Given the description of an element on the screen output the (x, y) to click on. 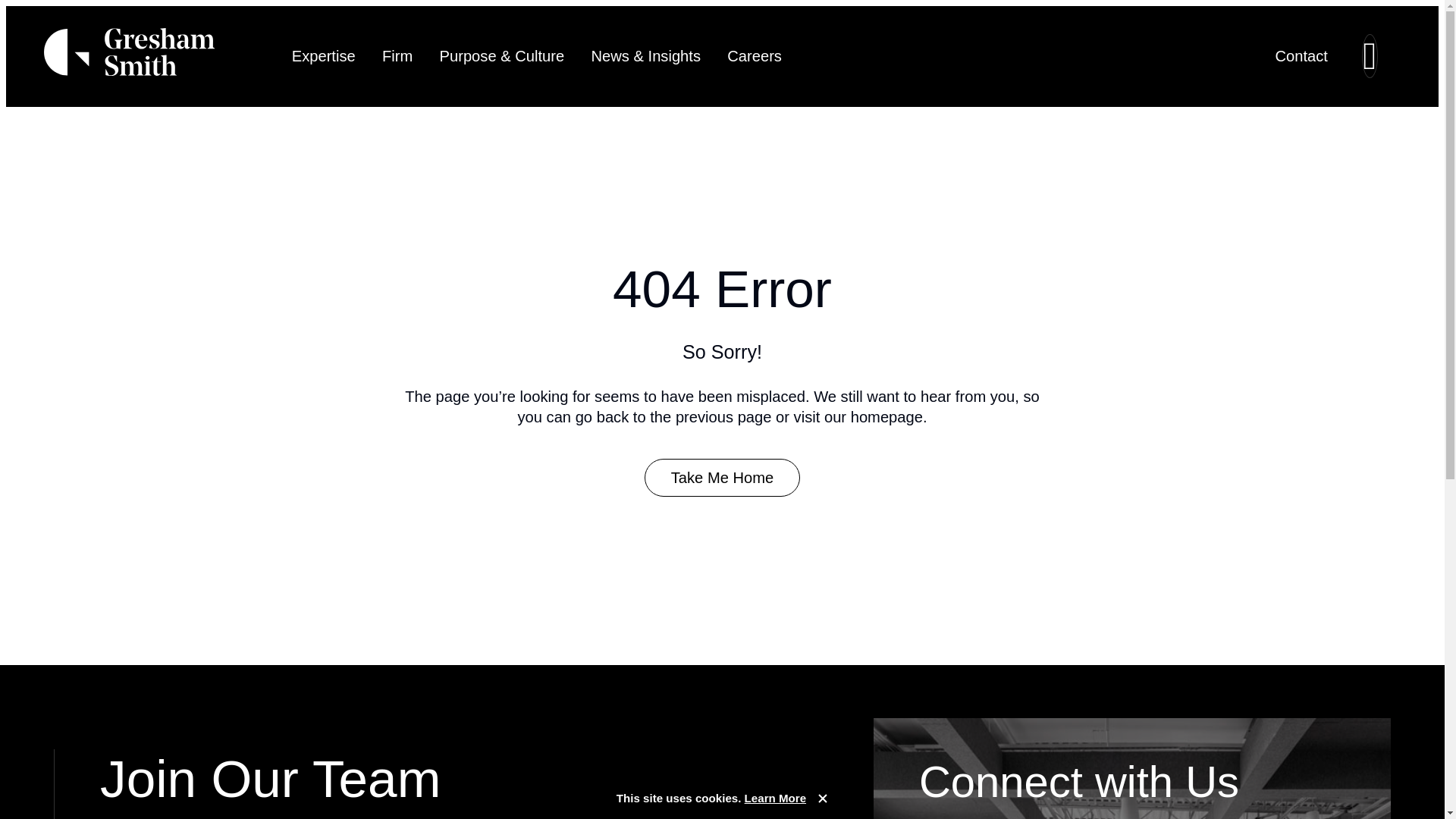
Expertise (323, 56)
Close (822, 798)
